Given the description of an element on the screen output the (x, y) to click on. 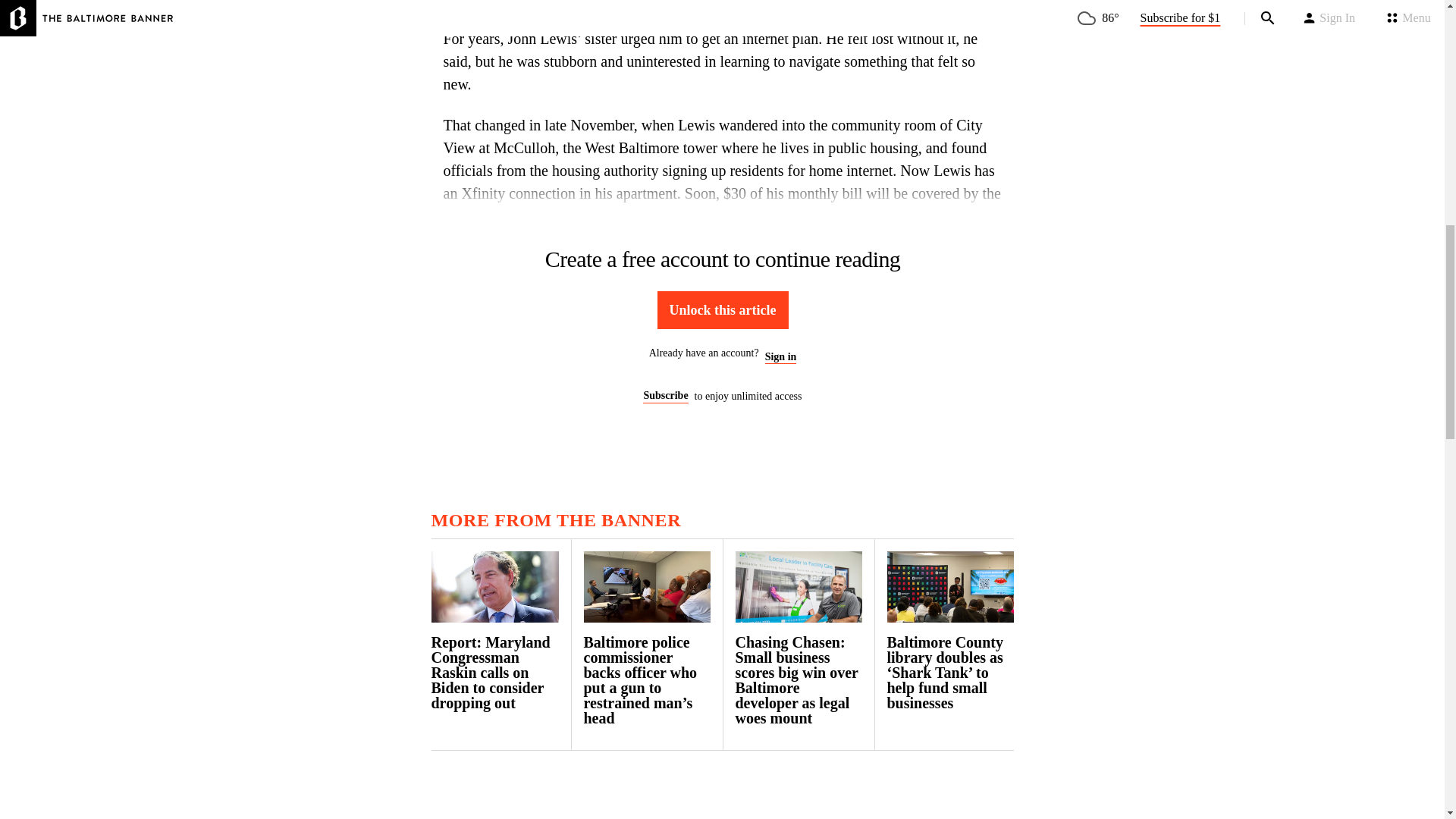
offer-0-g1buS (721, 326)
